Given the description of an element on the screen output the (x, y) to click on. 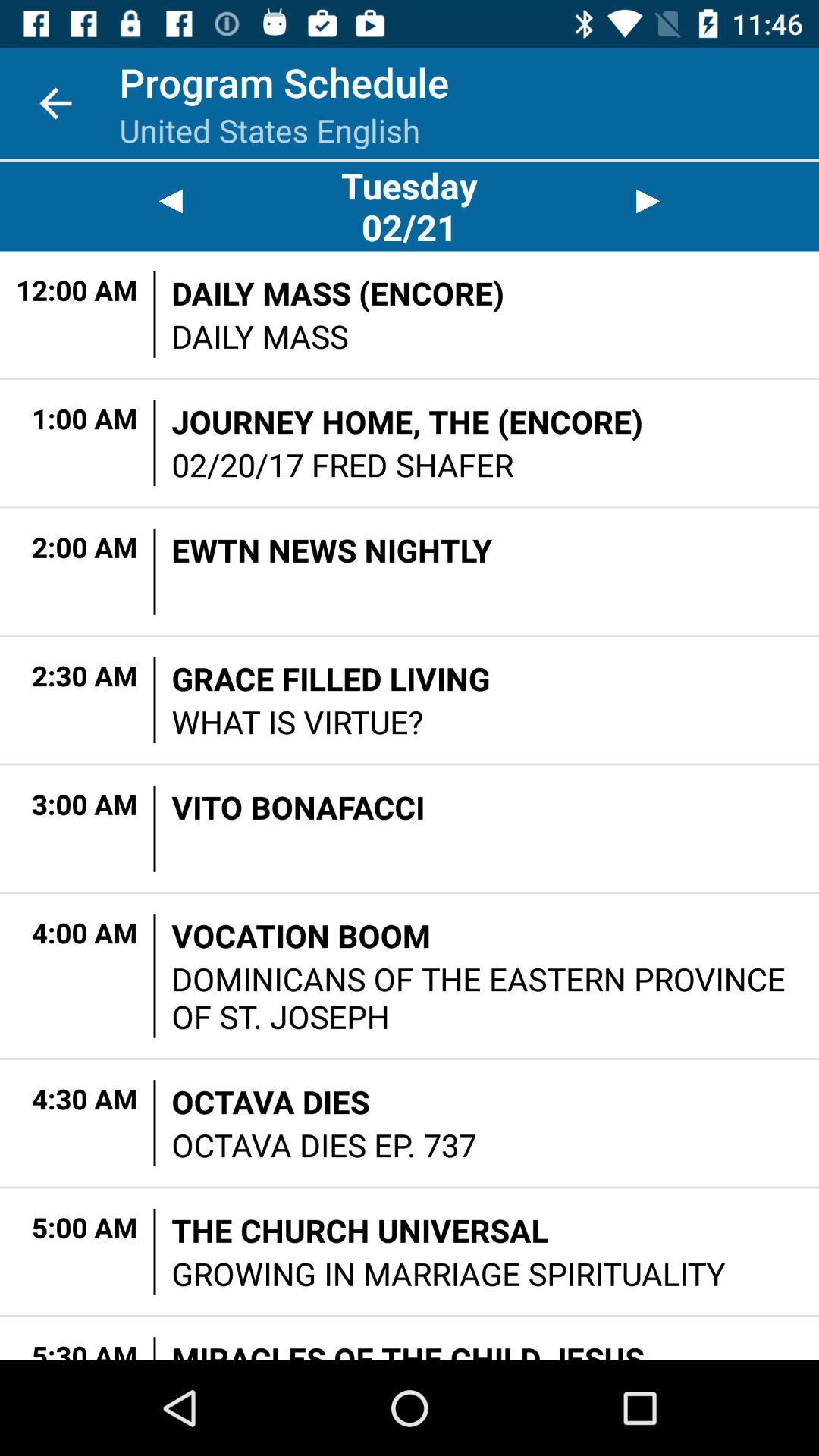
go to next day (648, 201)
